Given the description of an element on the screen output the (x, y) to click on. 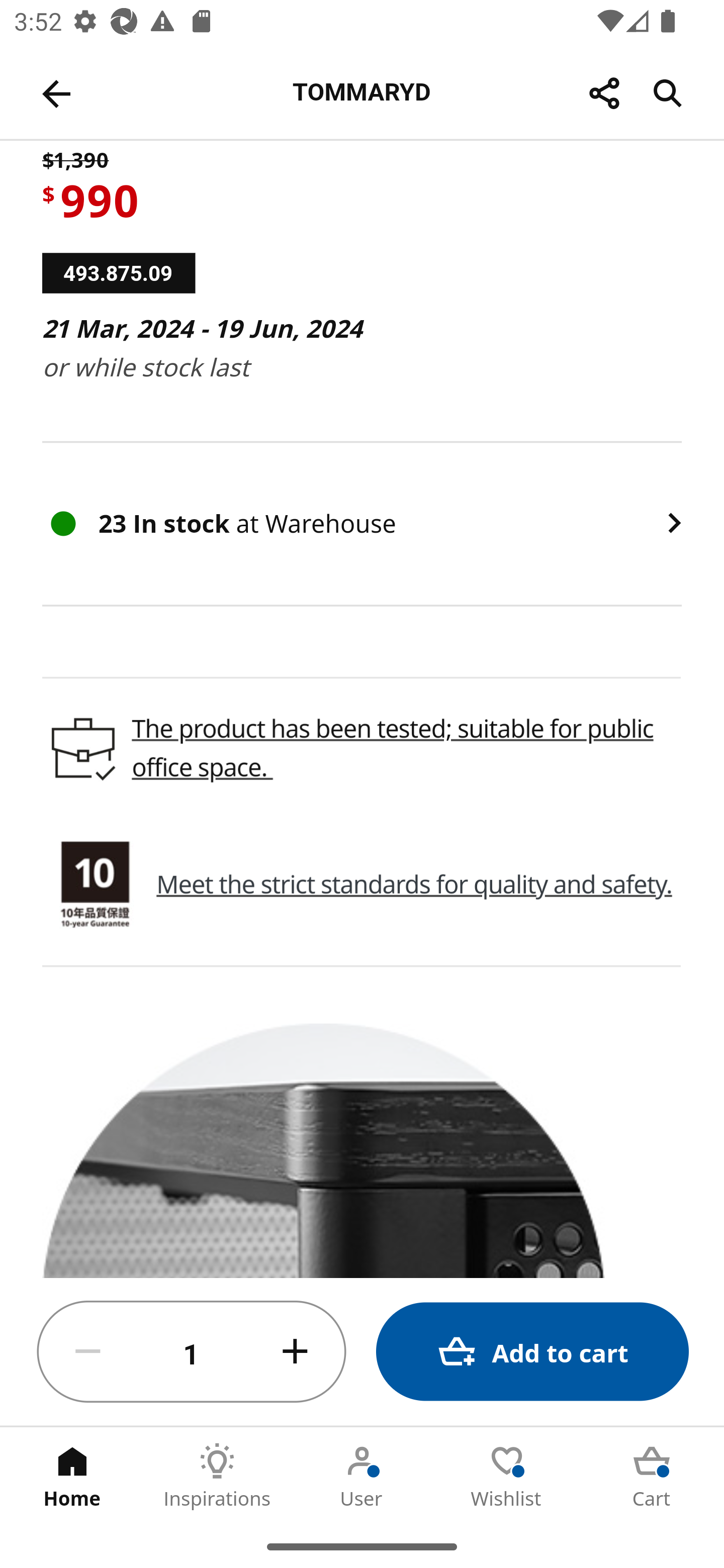
23 In stock at Warehouse (361, 523)
desk-table-storage-guarantee (94, 883)
Meet the strict standards for quality and safety. (414, 884)
Add to cart (531, 1352)
1 (191, 1352)
Home
Tab 1 of 5 (72, 1476)
Inspirations
Tab 2 of 5 (216, 1476)
User
Tab 3 of 5 (361, 1476)
Wishlist
Tab 4 of 5 (506, 1476)
Cart
Tab 5 of 5 (651, 1476)
